Given the description of an element on the screen output the (x, y) to click on. 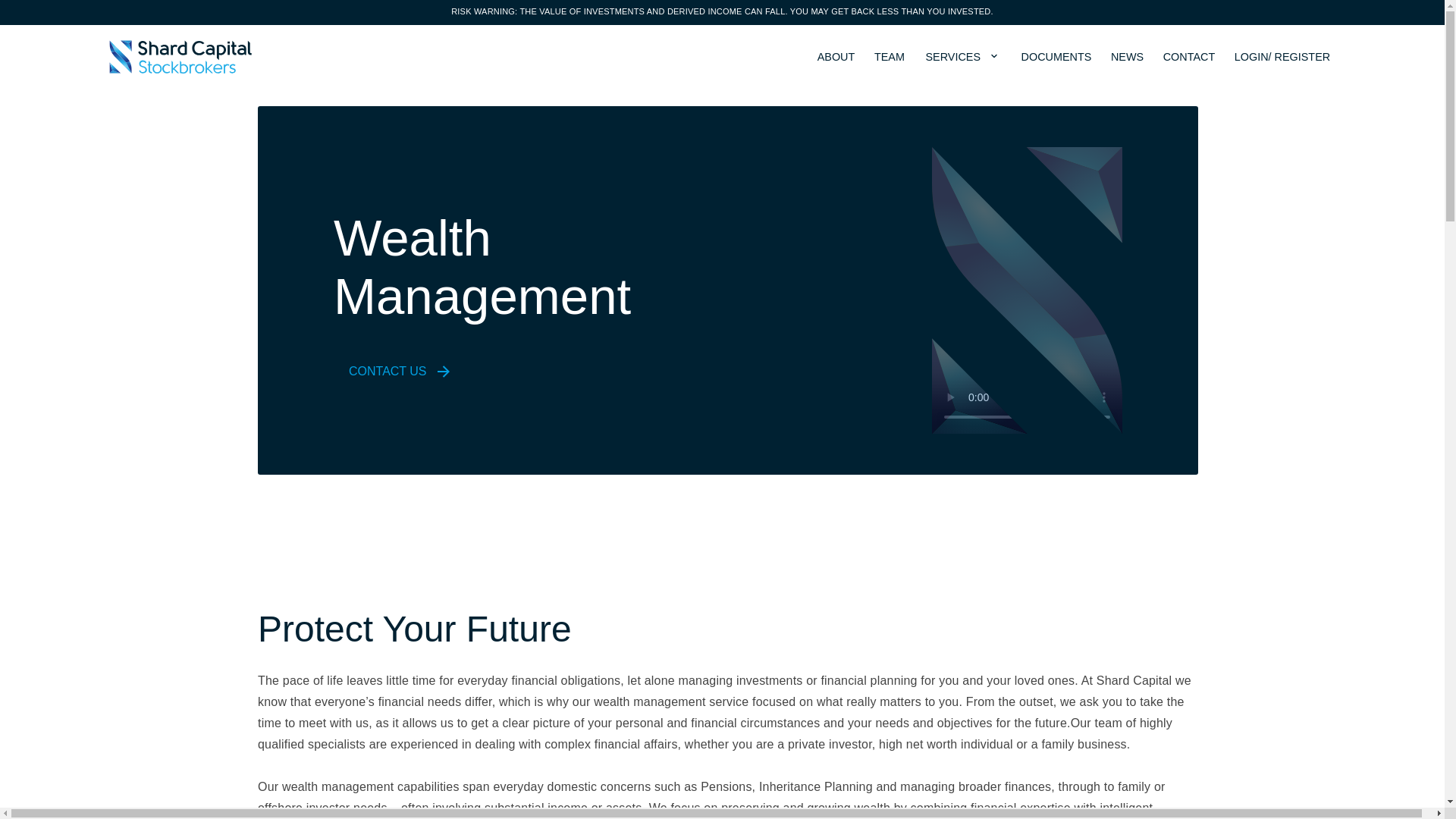
CONTACT US (392, 371)
CONTACT (1189, 57)
DOCUMENTS (1055, 57)
ABOUT (835, 57)
TEAM (889, 57)
NEWS (1127, 57)
